Given the description of an element on the screen output the (x, y) to click on. 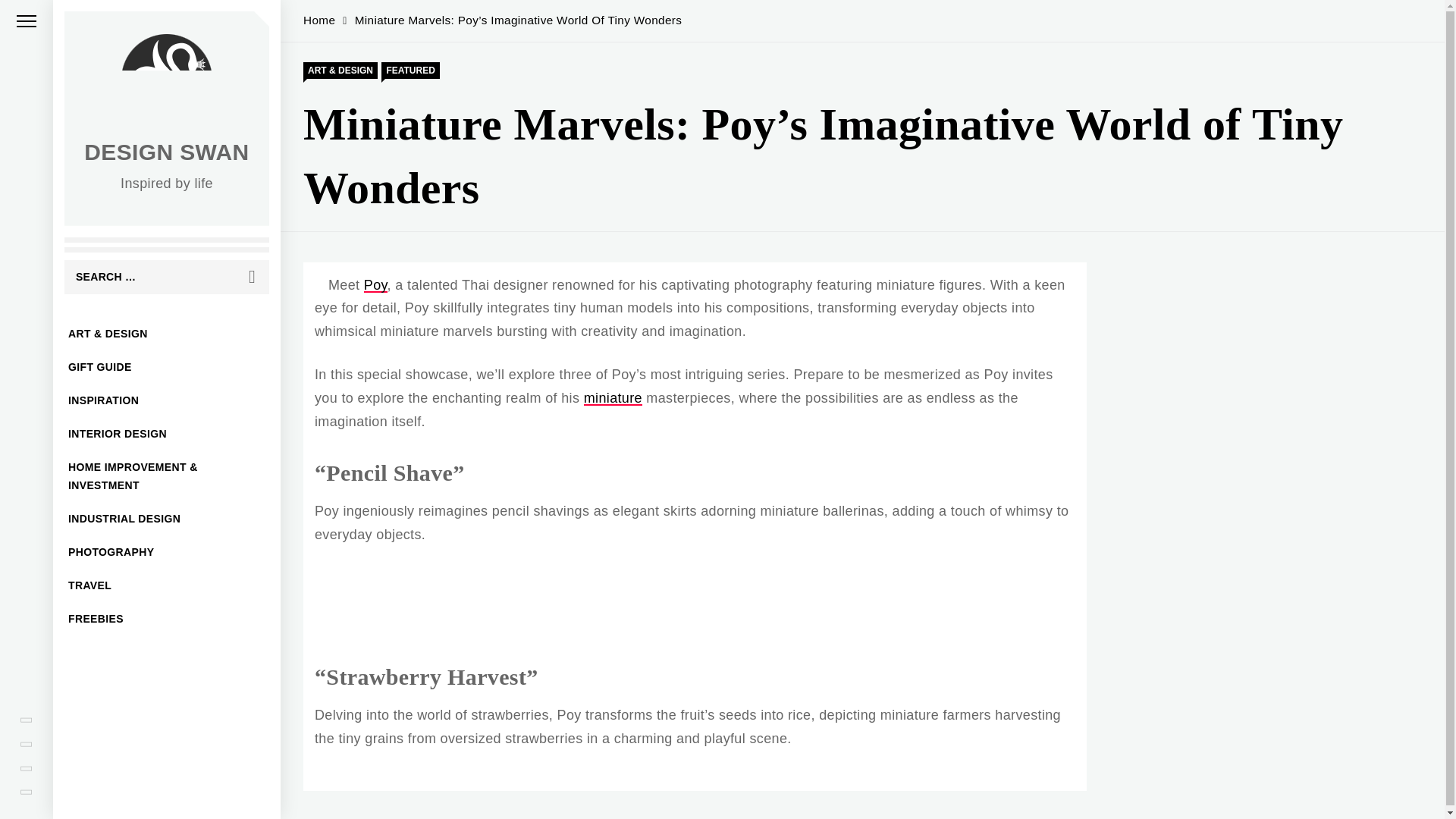
FREEBIES (166, 618)
Search (251, 277)
Search (251, 277)
GIFT GUIDE (166, 367)
DESIGN SWAN (166, 151)
INDUSTRIAL DESIGN (166, 518)
Home (318, 19)
TRAVEL (166, 584)
Poy (375, 284)
PHOTOGRAPHY (166, 551)
miniature (612, 397)
INSPIRATION (166, 400)
Search (251, 277)
FEATURED (410, 70)
INTERIOR DESIGN (166, 433)
